Given the description of an element on the screen output the (x, y) to click on. 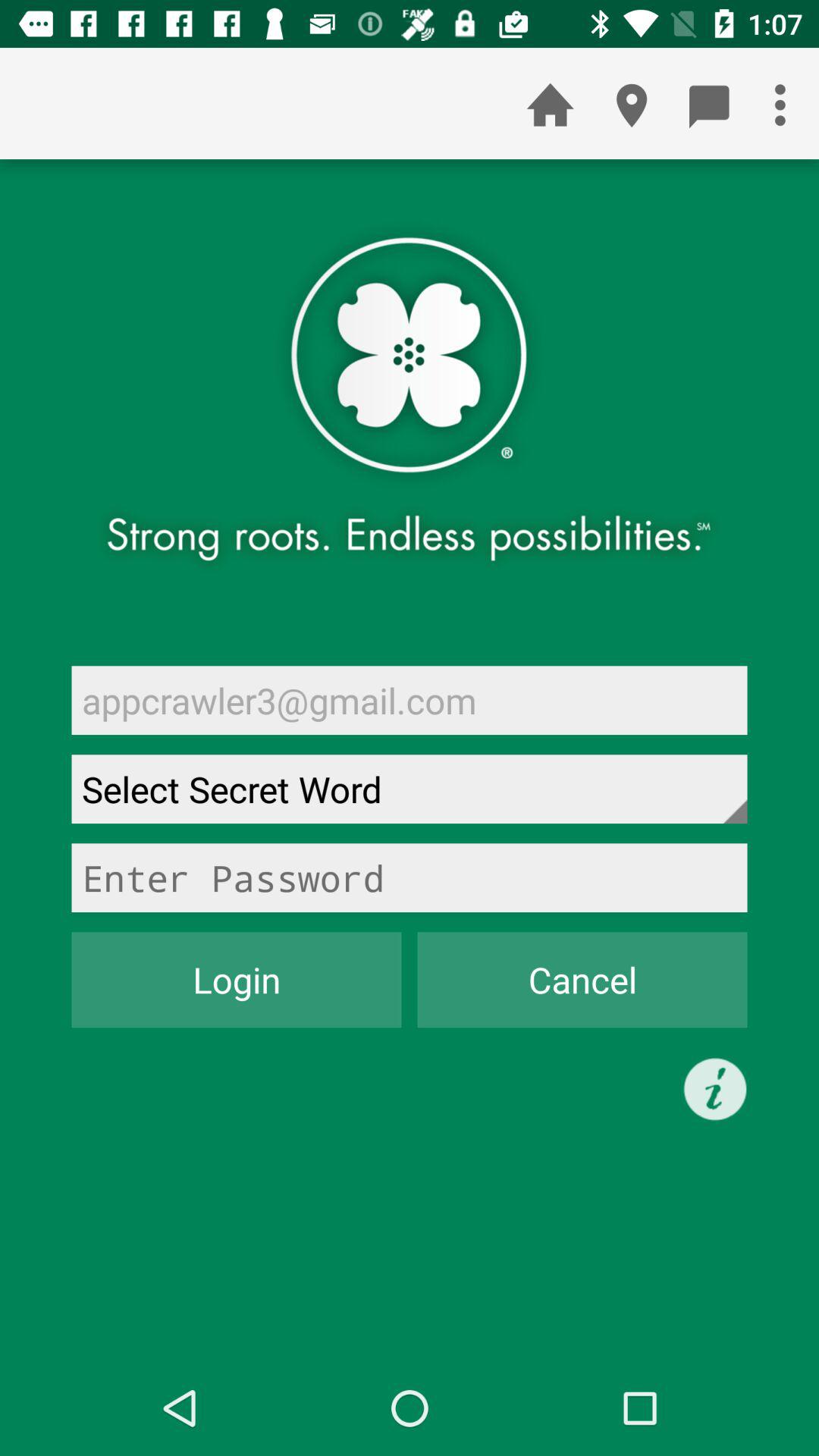
choose the cancel (582, 979)
